Given the description of an element on the screen output the (x, y) to click on. 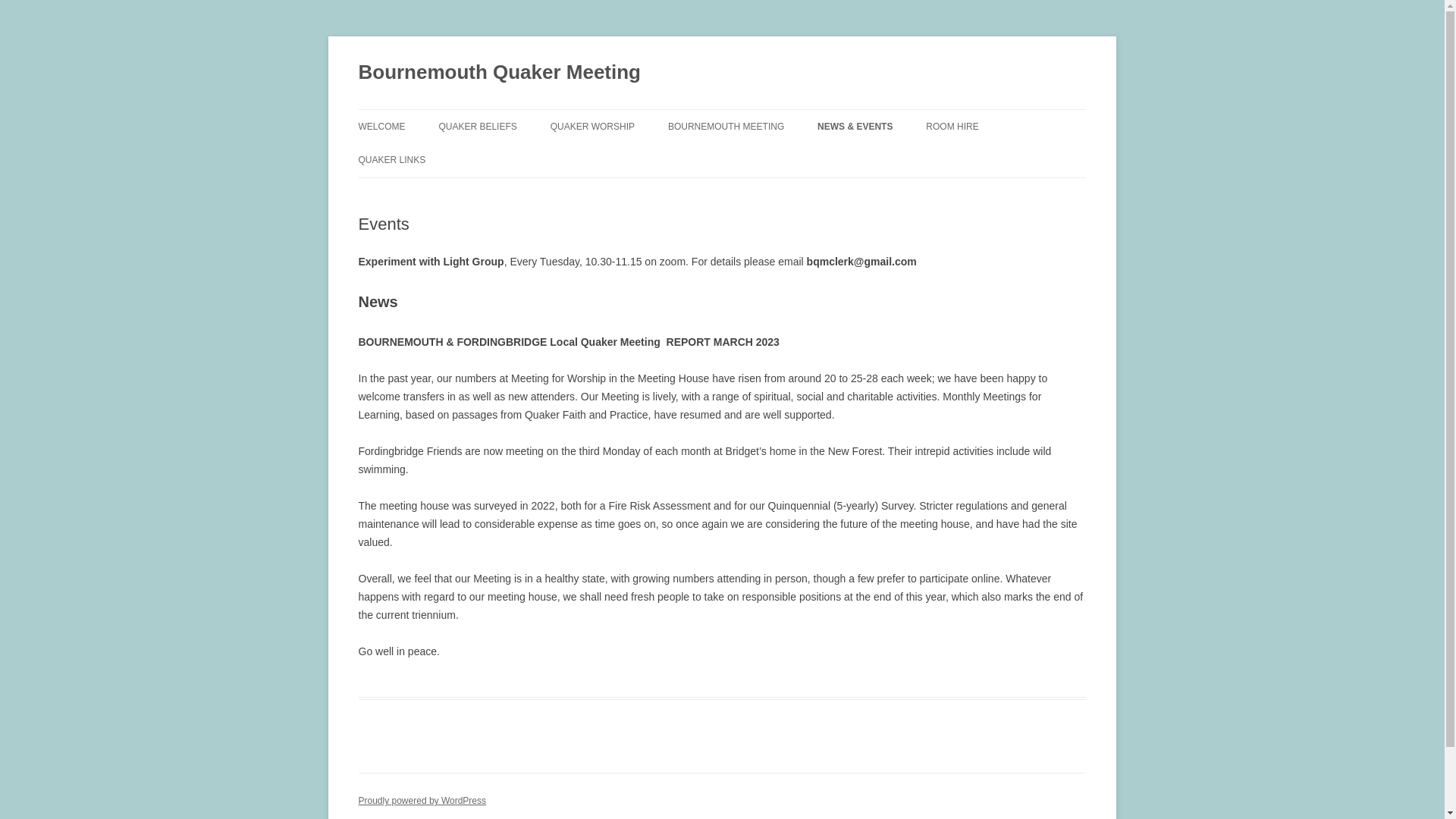
WELCOME (381, 126)
QUAKER LINKS (391, 159)
Proudly powered by WordPress (422, 800)
Bournemouth Quaker Meeting (499, 72)
Semantic Personal Publishing Platform (422, 800)
MEETING DETAILS (743, 158)
QUAKER BELIEFS (477, 126)
QUAKER WORSHIP (592, 126)
ROOM HIRE (952, 126)
BOURNEMOUTH MEETING (726, 126)
